Given the description of an element on the screen output the (x, y) to click on. 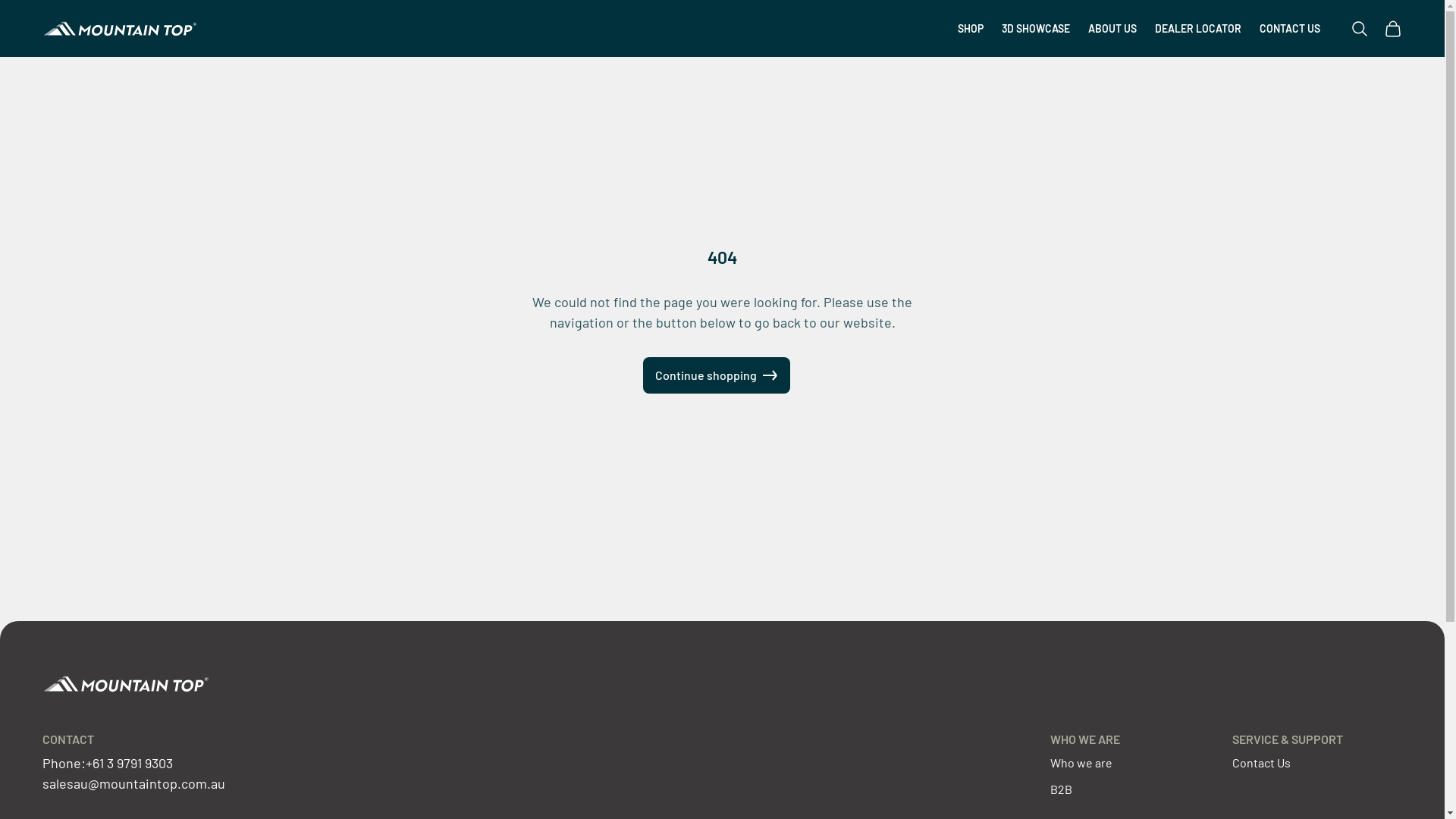
Who we are Element type: text (1081, 762)
Open cart Element type: text (1392, 28)
Continue shopping Element type: text (716, 375)
salesau@mountaintop.com.au Element type: text (133, 783)
Mountain Top Australia Element type: text (119, 28)
+61 3 9791 9303 Element type: text (128, 762)
B2B Element type: text (1061, 788)
Contact Us Element type: text (1261, 762)
3D SHOWCASE Element type: text (1035, 28)
CONTACT US Element type: text (1289, 28)
DEALER LOCATOR Element type: text (1197, 28)
Open search Element type: text (1359, 28)
